Given the description of an element on the screen output the (x, y) to click on. 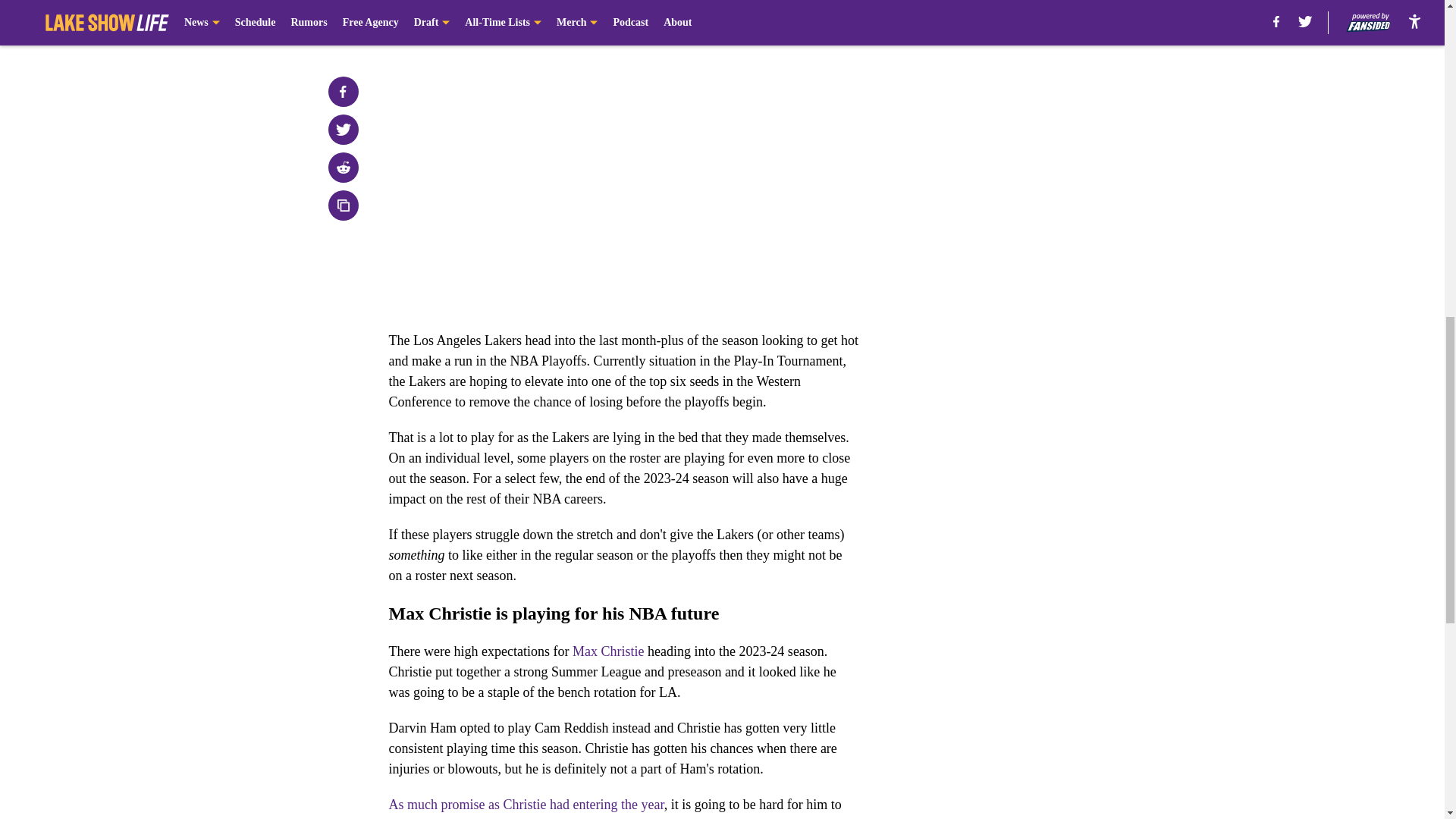
As much promise as Christie had entering the year (525, 804)
Prev (433, 20)
Next (813, 20)
Max Christie (608, 651)
